Given the description of an element on the screen output the (x, y) to click on. 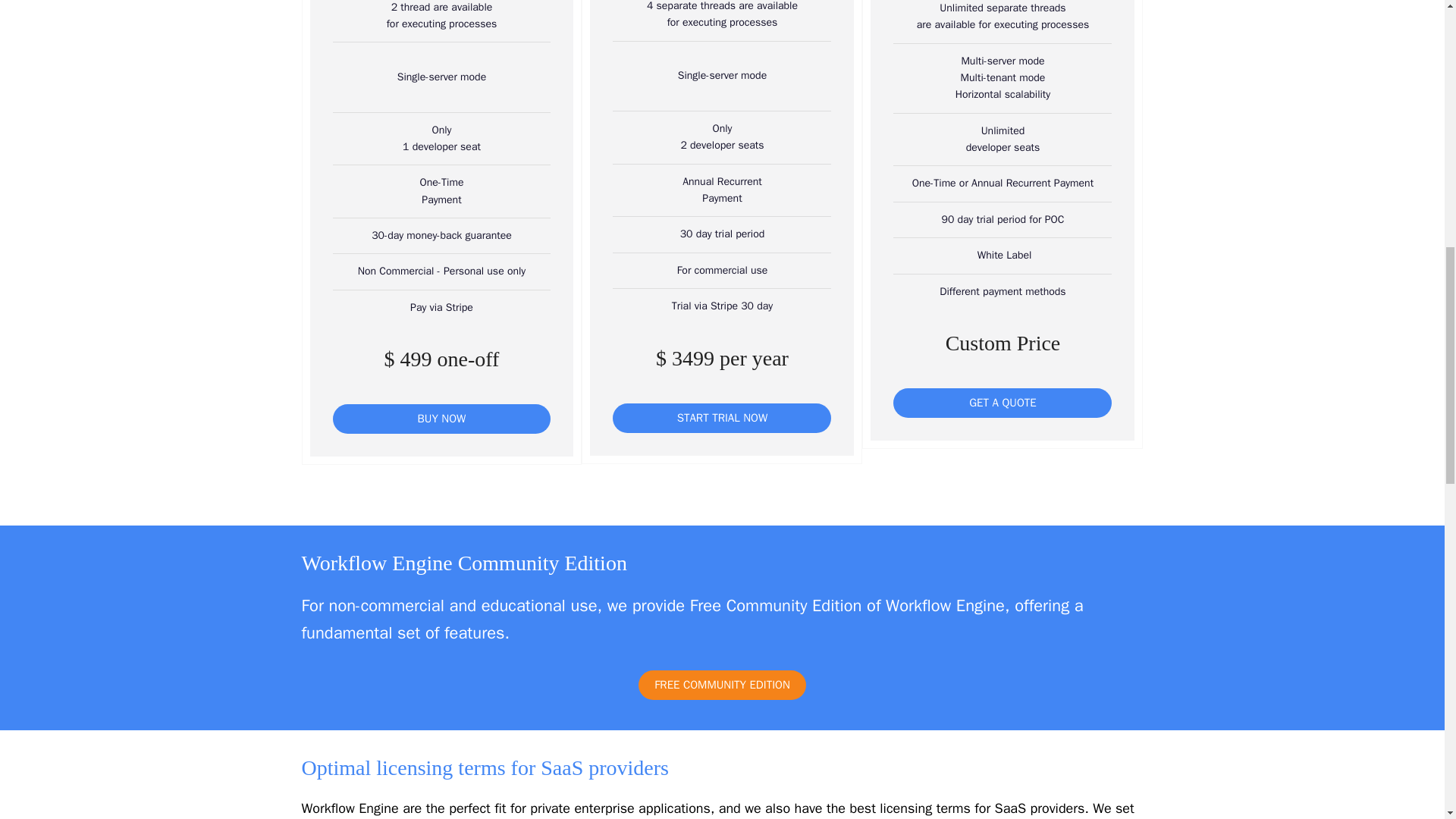
START TRIAL NOW (721, 418)
BUY NOW (440, 419)
GET A QUOTE (1002, 402)
FREE COMMUNITY EDITION (722, 685)
